Given the description of an element on the screen output the (x, y) to click on. 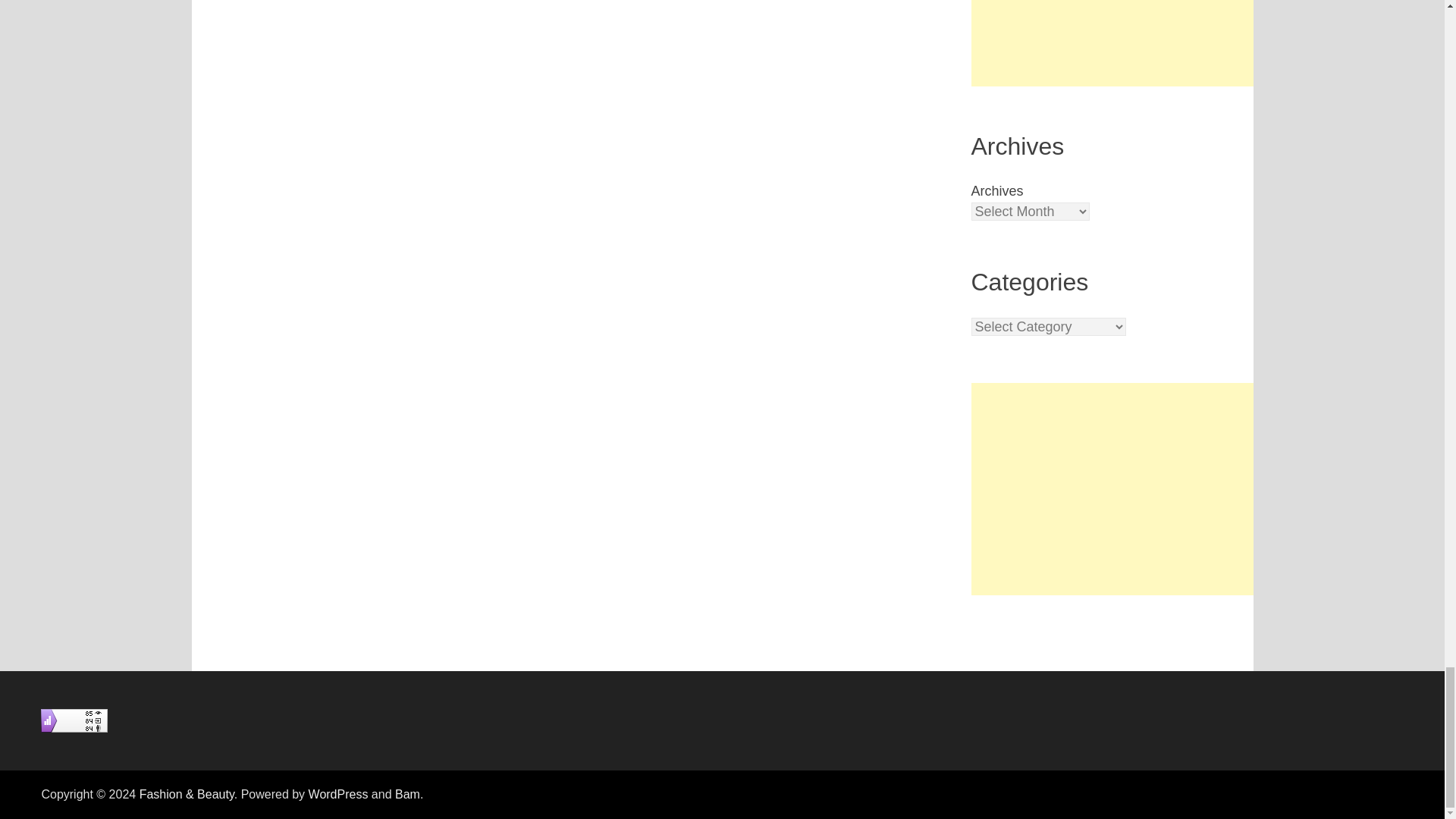
WordPress (338, 793)
Bam (407, 793)
